Given the description of an element on the screen output the (x, y) to click on. 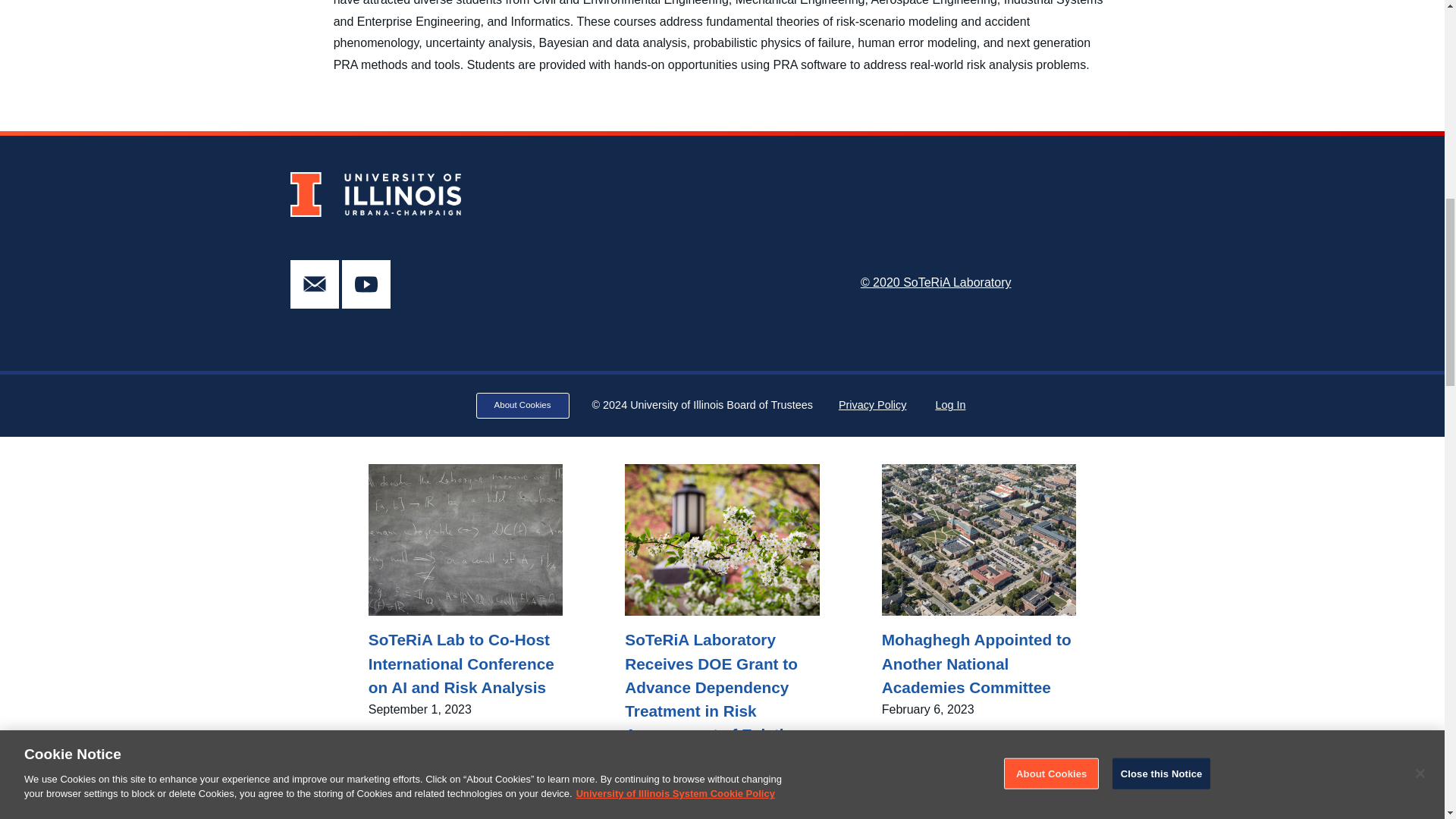
About Cookies (522, 405)
Privacy Policy (872, 404)
Mohaghegh Appointed to Another National Academies Committee (978, 663)
Log In (949, 404)
